Given the description of an element on the screen output the (x, y) to click on. 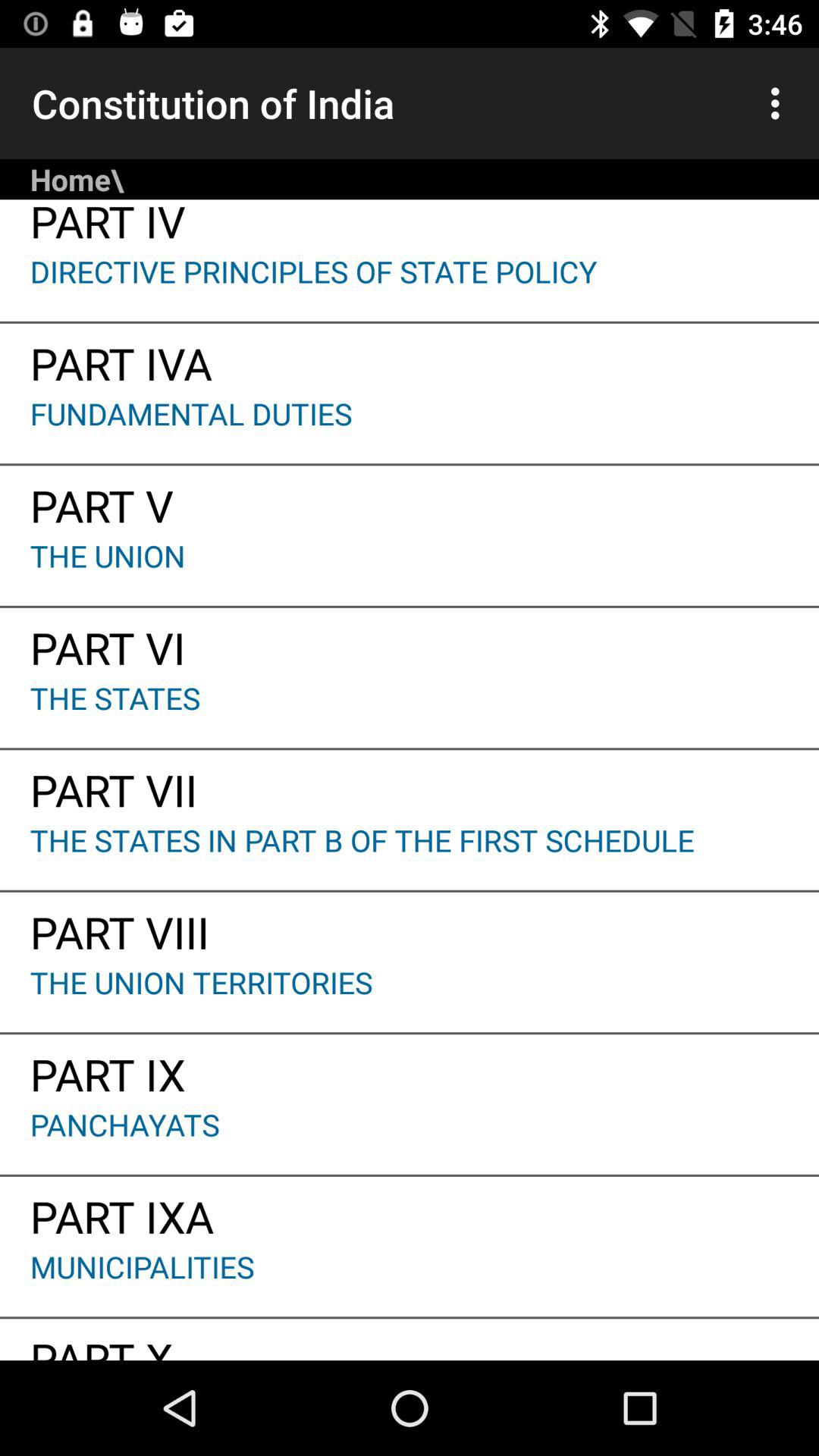
scroll to municipalities app (409, 1281)
